Given the description of an element on the screen output the (x, y) to click on. 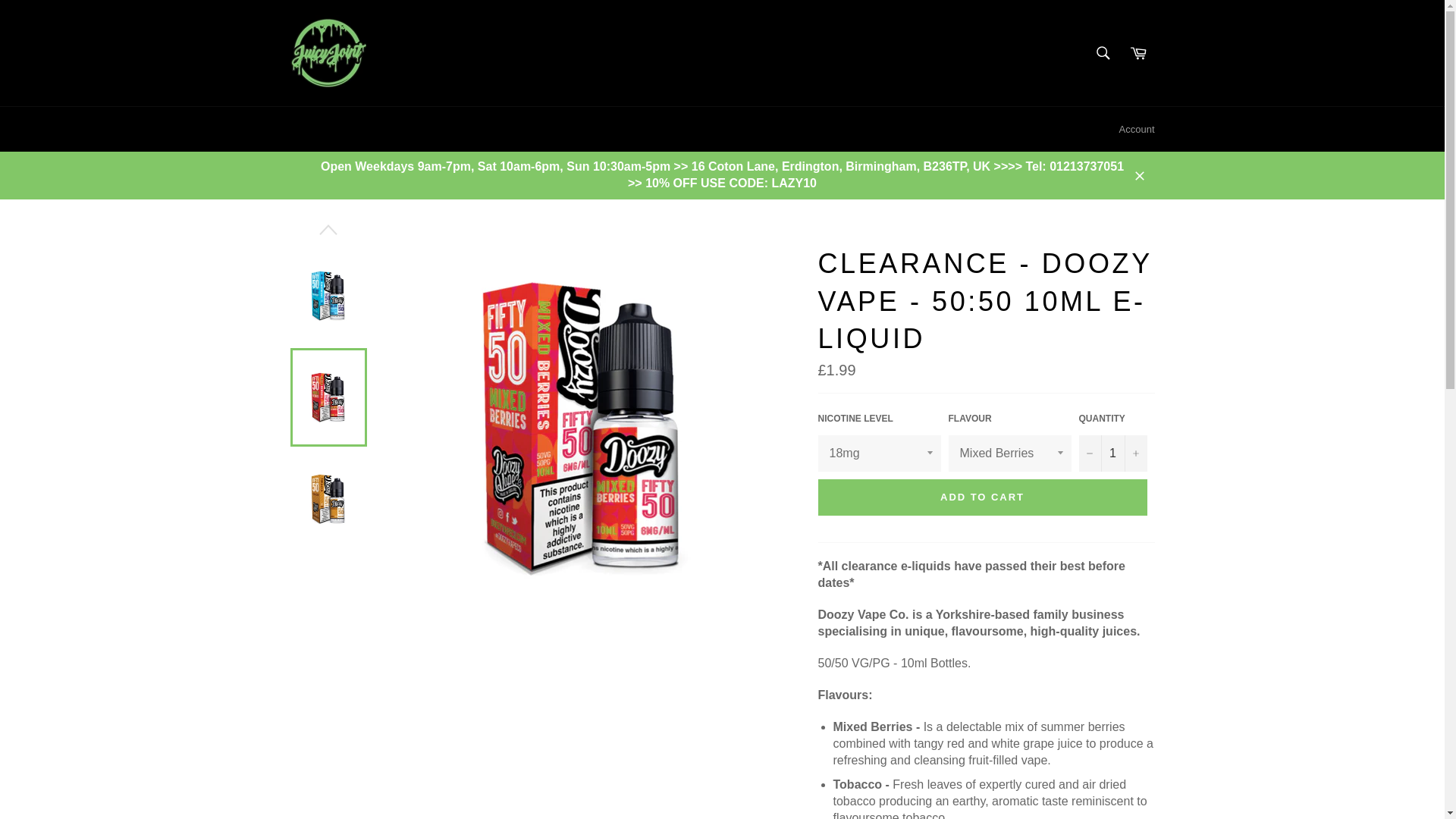
ADD TO CART (981, 497)
1 (1112, 452)
Cart (1138, 52)
Account (1136, 129)
Search (1103, 52)
